Given the description of an element on the screen output the (x, y) to click on. 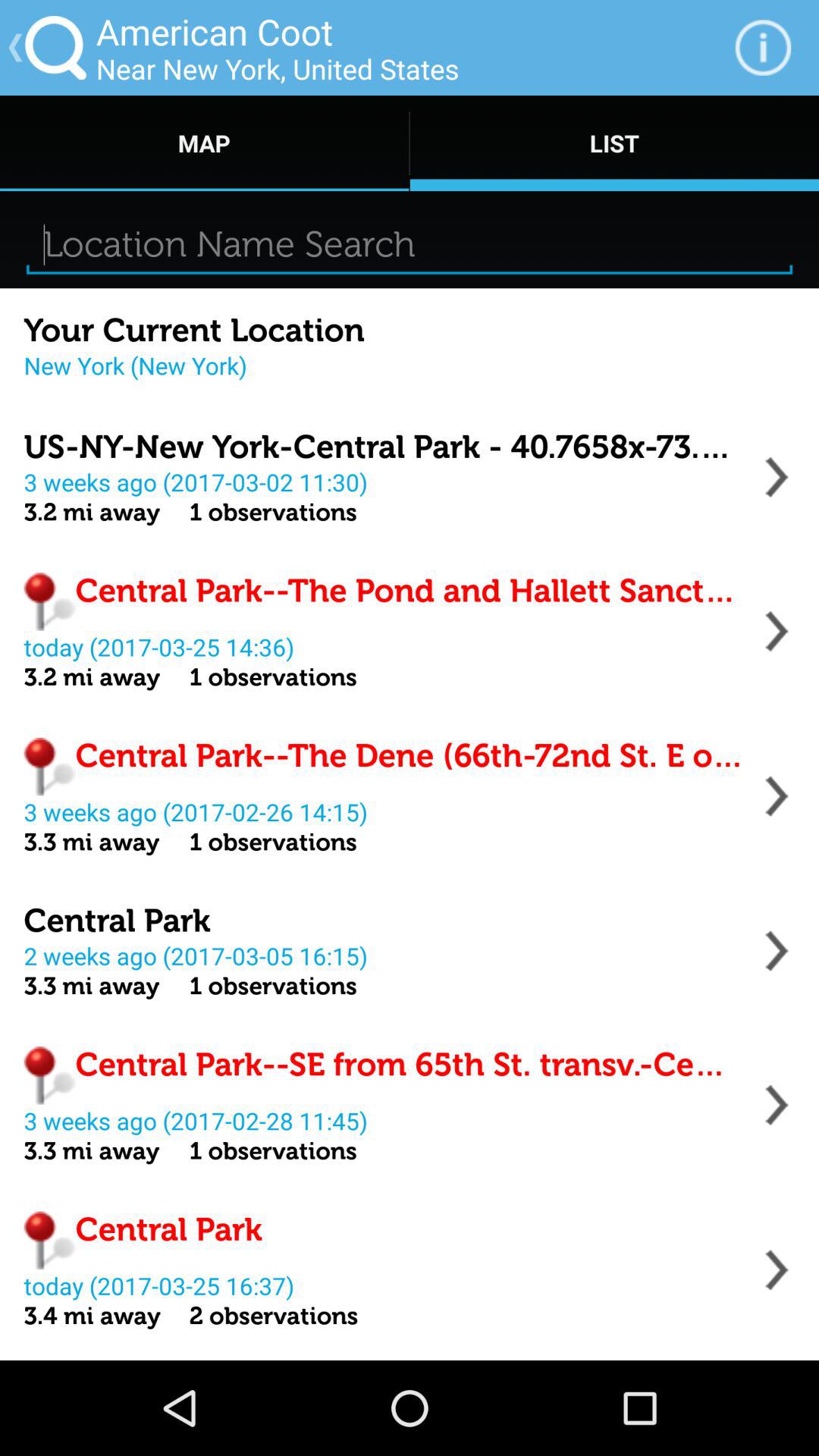
type the location name (409, 244)
